Given the description of an element on the screen output the (x, y) to click on. 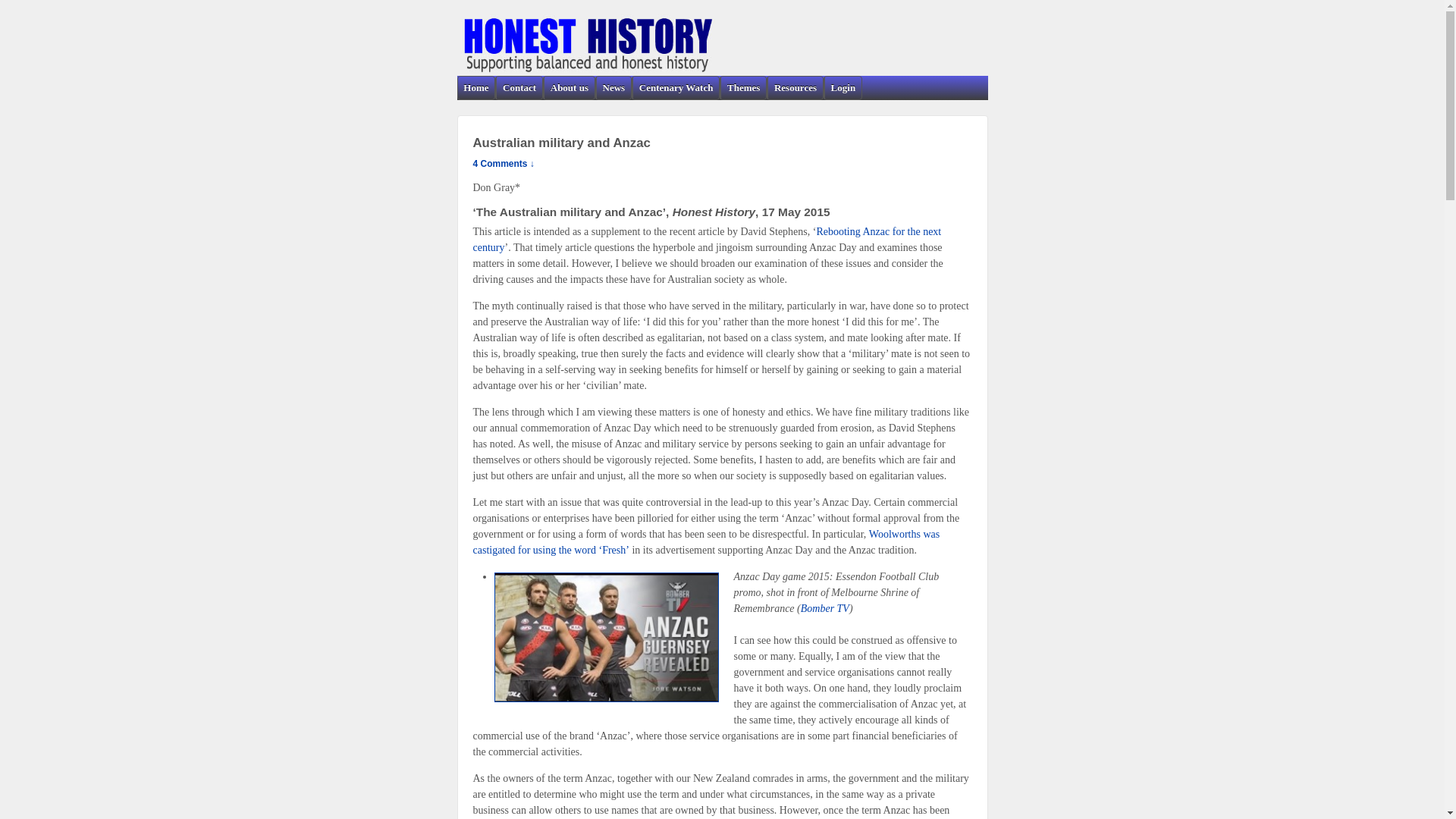
Contact (518, 87)
Centenary Watch (675, 87)
Themes (742, 87)
About us (568, 87)
Home (476, 87)
News (612, 87)
Resources (794, 87)
Login (842, 87)
